Given the description of an element on the screen output the (x, y) to click on. 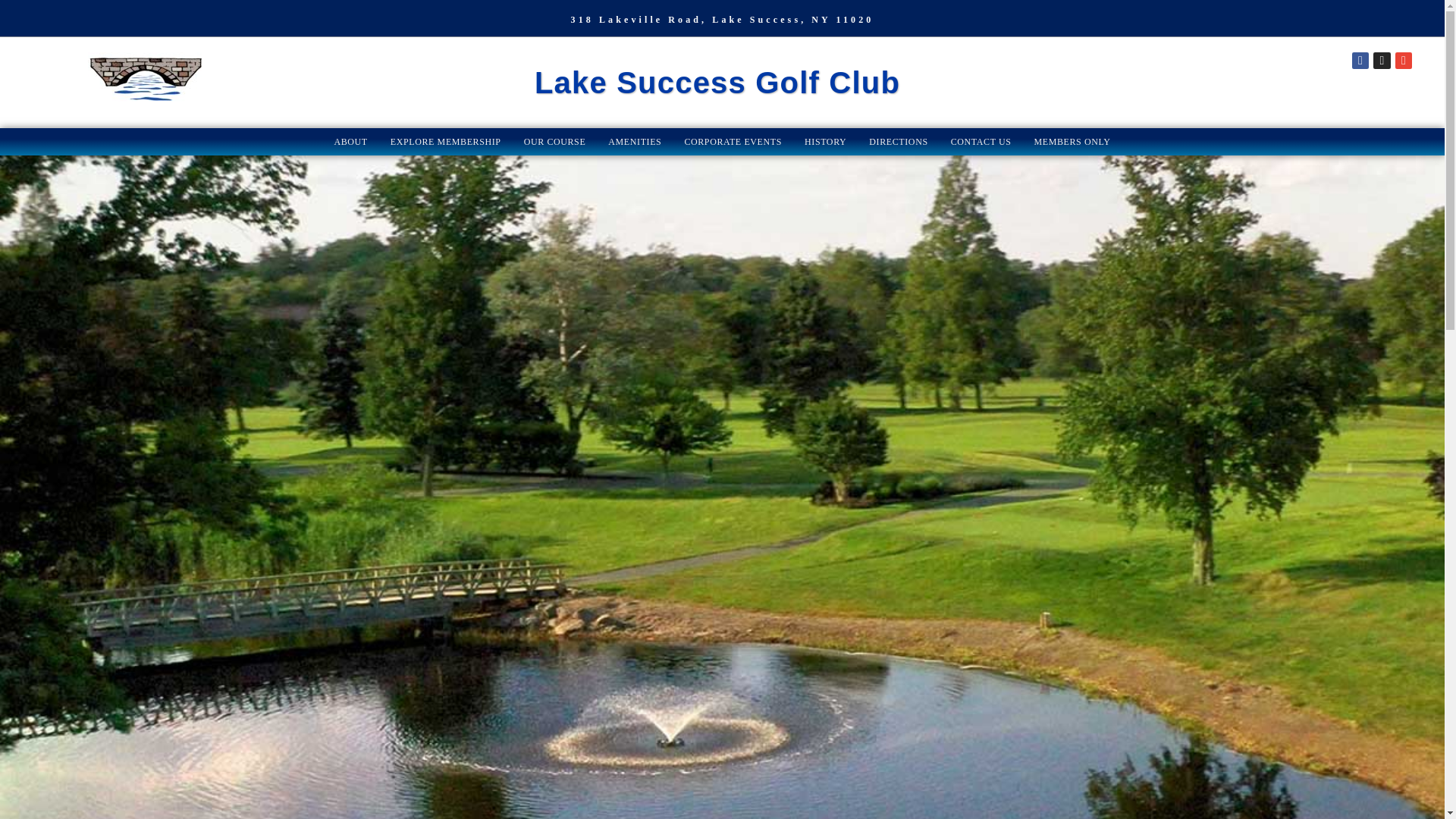
AMENITIES (634, 141)
HISTORY (825, 141)
EXPLORE MEMBERSHIP (445, 141)
MEMBERS ONLY (1072, 141)
CONTACT US (981, 141)
CORPORATE EVENTS (732, 141)
OUR COURSE (554, 141)
ABOUT (349, 141)
DIRECTIONS (898, 141)
